Given the description of an element on the screen output the (x, y) to click on. 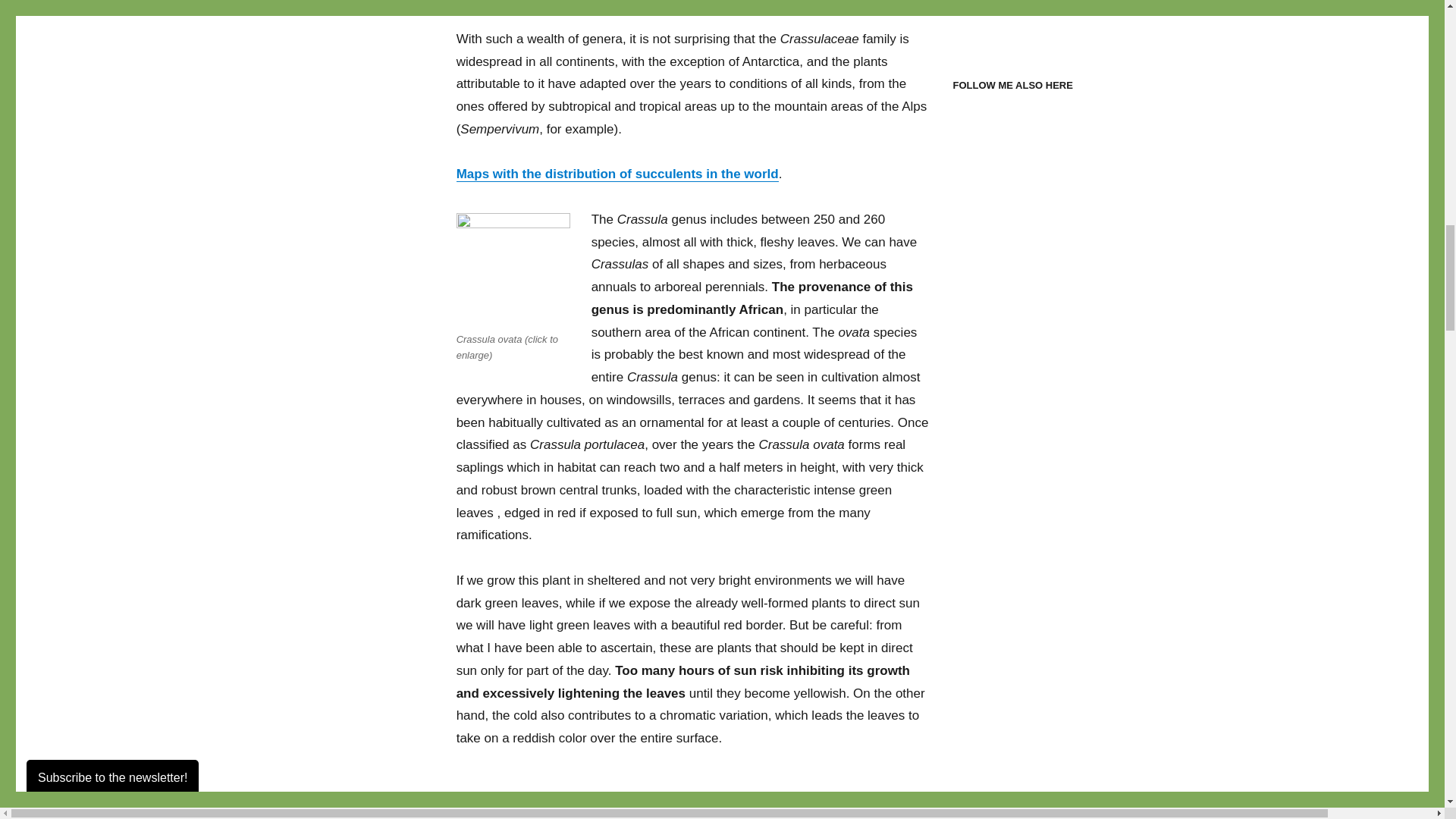
Maps with the distribution of succulents in the world (617, 173)
